Given the description of an element on the screen output the (x, y) to click on. 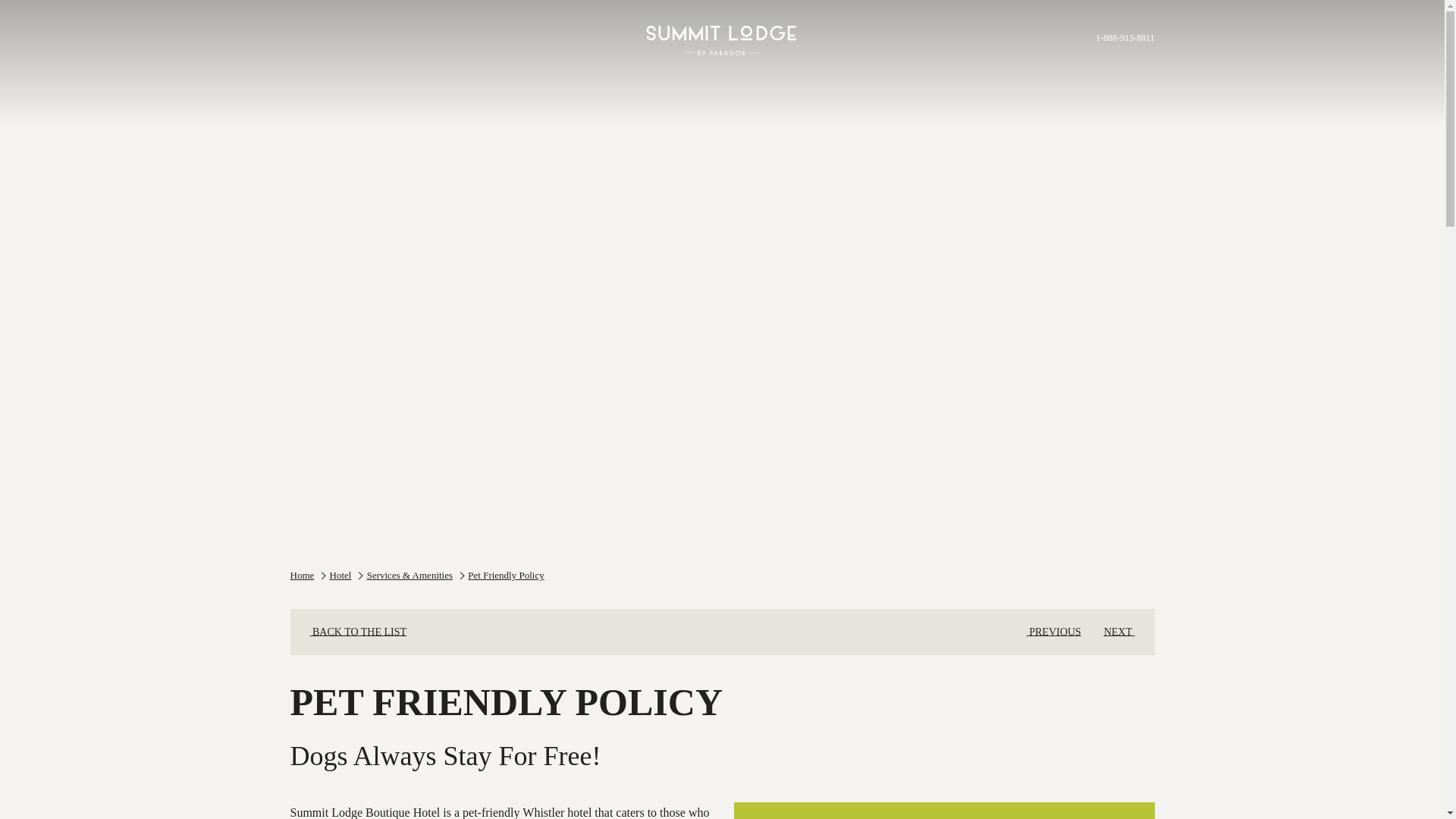
1-888-913-8811 (1119, 37)
Back to the homepage (721, 35)
